Given the description of an element on the screen output the (x, y) to click on. 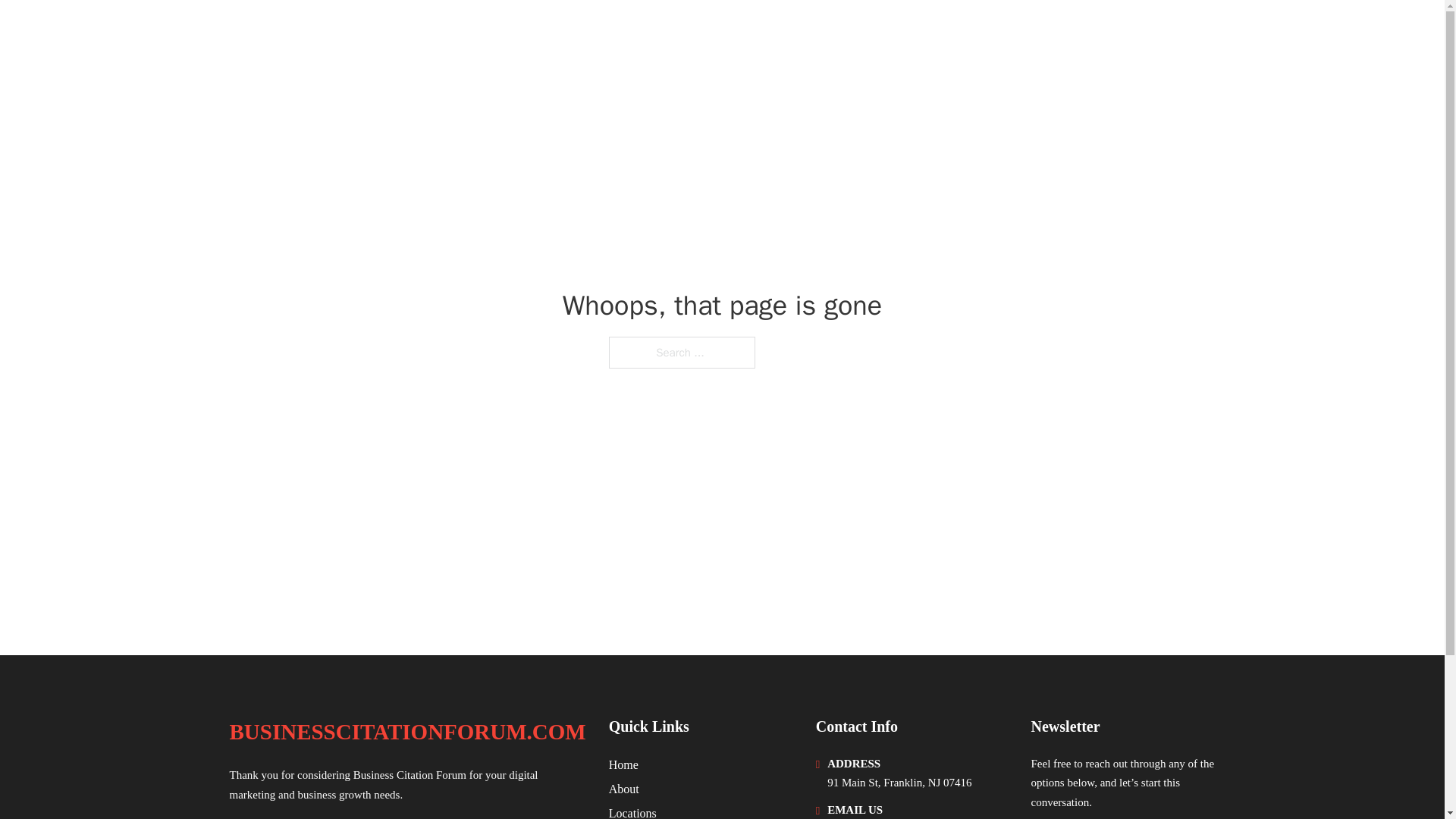
LOCATIONS (1098, 31)
About (623, 788)
Home (623, 764)
BUSINESSCITATIONFORUM.COM (425, 31)
Locations (632, 811)
HOME (1025, 31)
BUSINESSCITATIONFORUM.COM (406, 732)
